Given the description of an element on the screen output the (x, y) to click on. 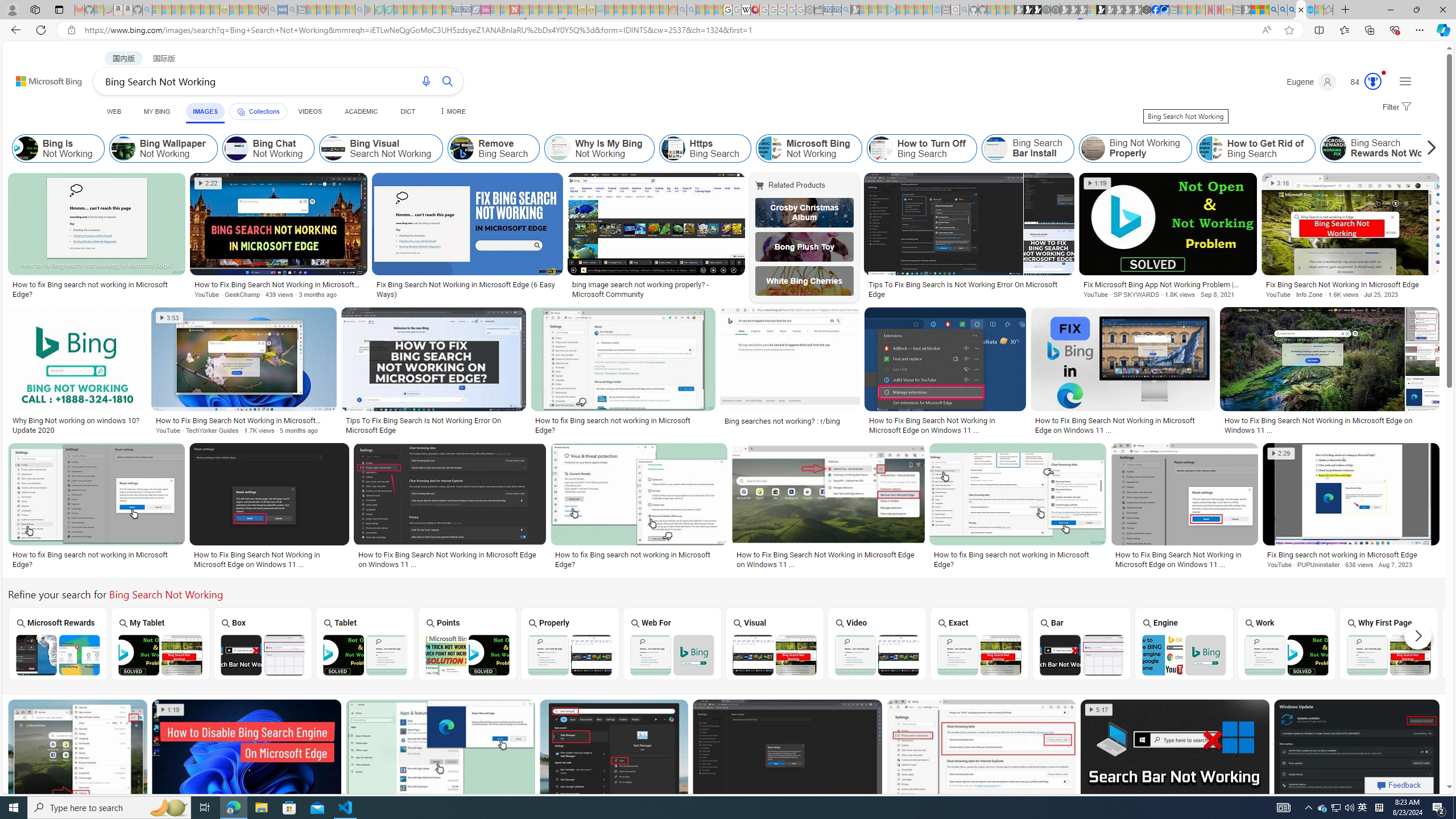
Fix Bing search not working in Microsoft Edge (1350, 554)
5:17 (1098, 709)
MSN - Sleeping (1246, 9)
Bong Plush Toy (804, 246)
White Bing Cherries (804, 280)
Why Is My Bing Not Working (598, 148)
